Given the description of an element on the screen output the (x, y) to click on. 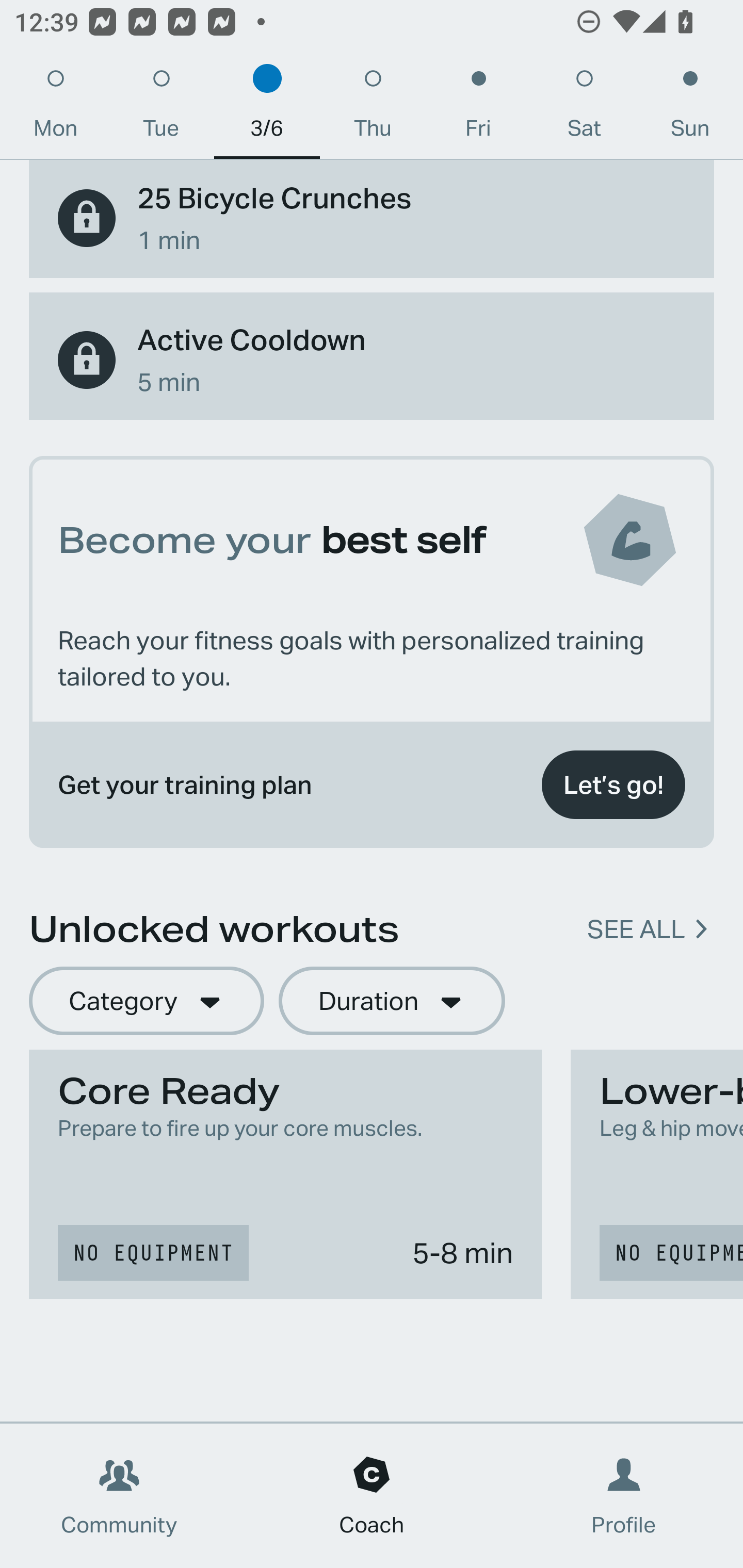
Mon (55, 108)
Tue (160, 108)
3/6 (266, 108)
Thu (372, 108)
Fri (478, 108)
Sat (584, 108)
Sun (690, 108)
25 Bicycle Crunches 1 min (371, 218)
Active Cooldown 5 min (371, 359)
Let’s go! (613, 784)
SEE ALL (635, 928)
Category (146, 1001)
Duration (391, 1001)
Community (119, 1495)
Profile (624, 1495)
